Given the description of an element on the screen output the (x, y) to click on. 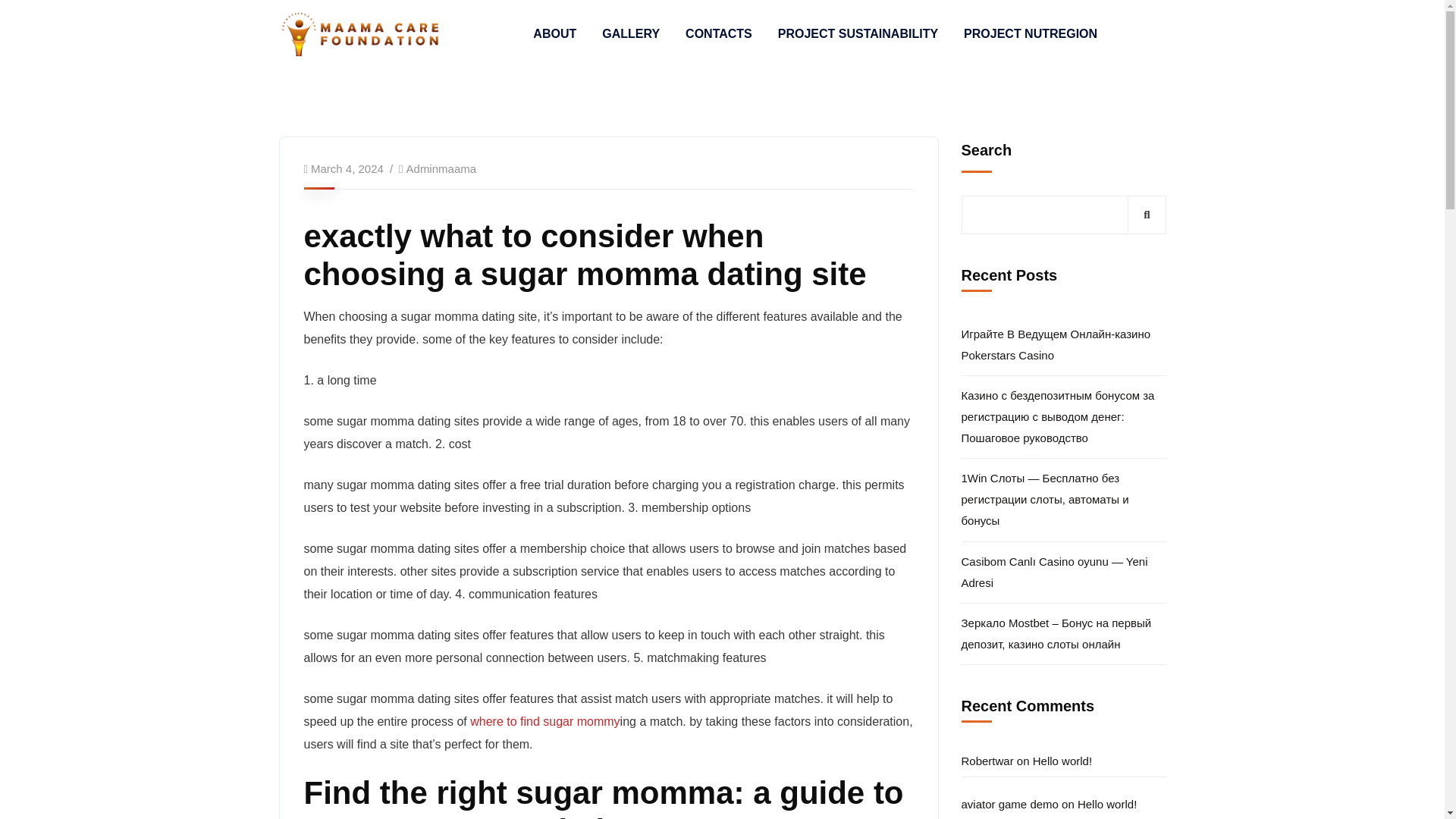
PROJECT SUSTAINABILITY (857, 34)
ABOUT (554, 34)
CONTACTS (718, 34)
PROJECT NUTREGION (1030, 34)
Adminmaama (441, 168)
Maama Care Foundation (360, 32)
where to find sugar mommy (545, 721)
GALLERY (630, 34)
Posts by adminmaama (441, 168)
